Given the description of an element on the screen output the (x, y) to click on. 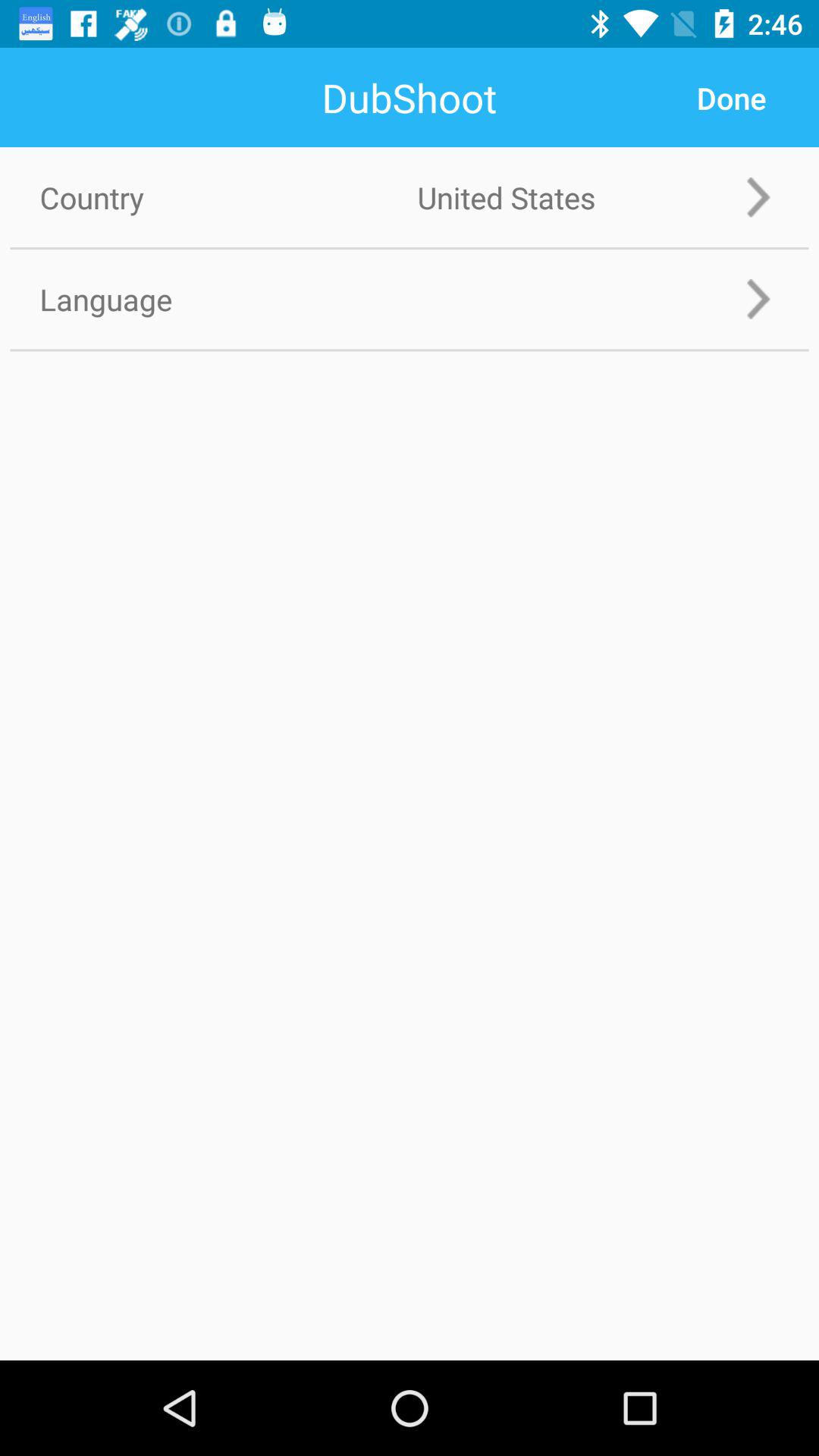
turn off app next to country item (731, 97)
